Given the description of an element on the screen output the (x, y) to click on. 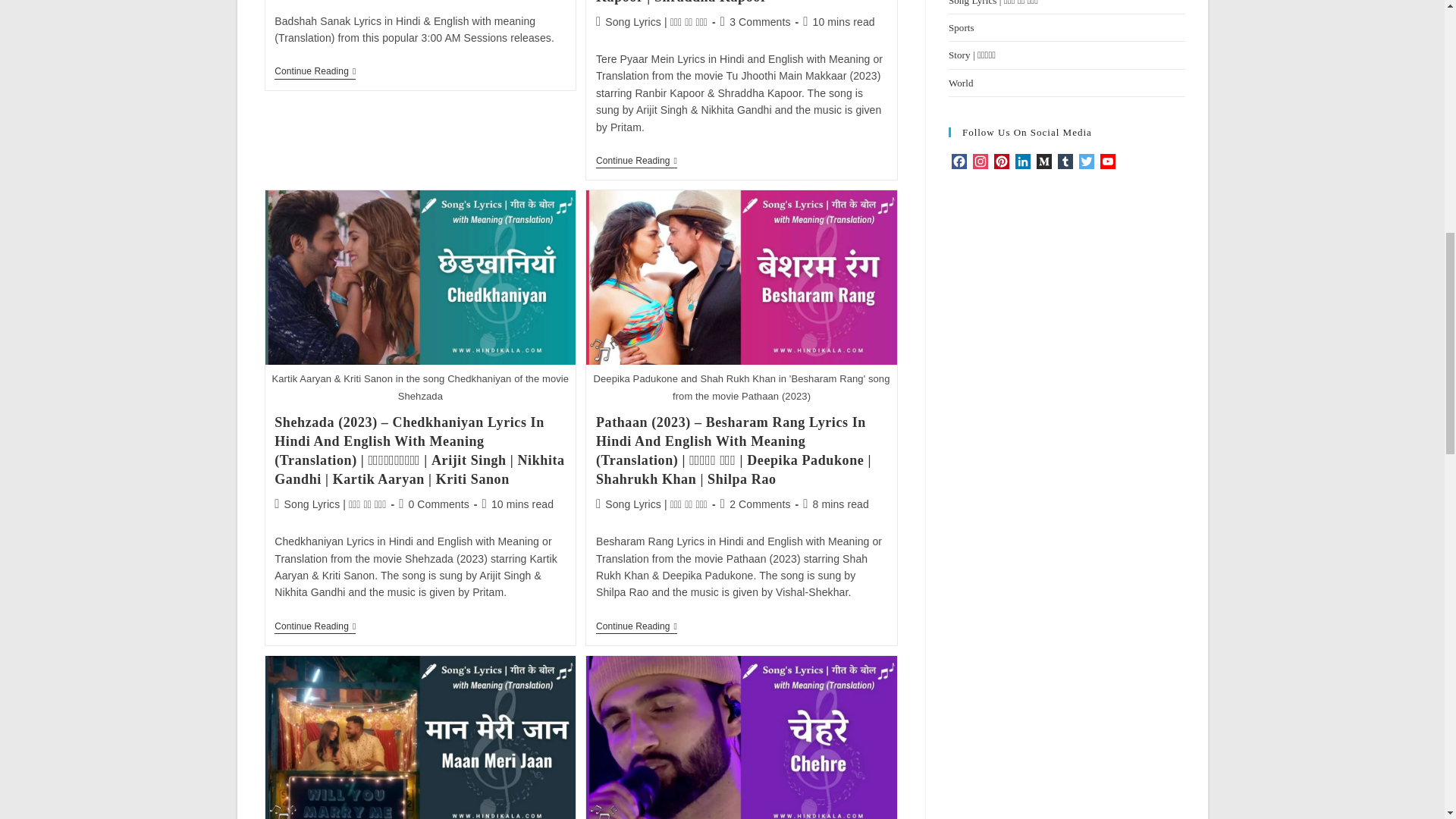
YouTube Channel (1107, 162)
LinkedIn Company (1022, 162)
Medium (1043, 162)
Instagram (980, 162)
Facebook (959, 162)
Pinterest (1001, 162)
Twitter (1086, 162)
Tumblr (1064, 162)
